Given the description of an element on the screen output the (x, y) to click on. 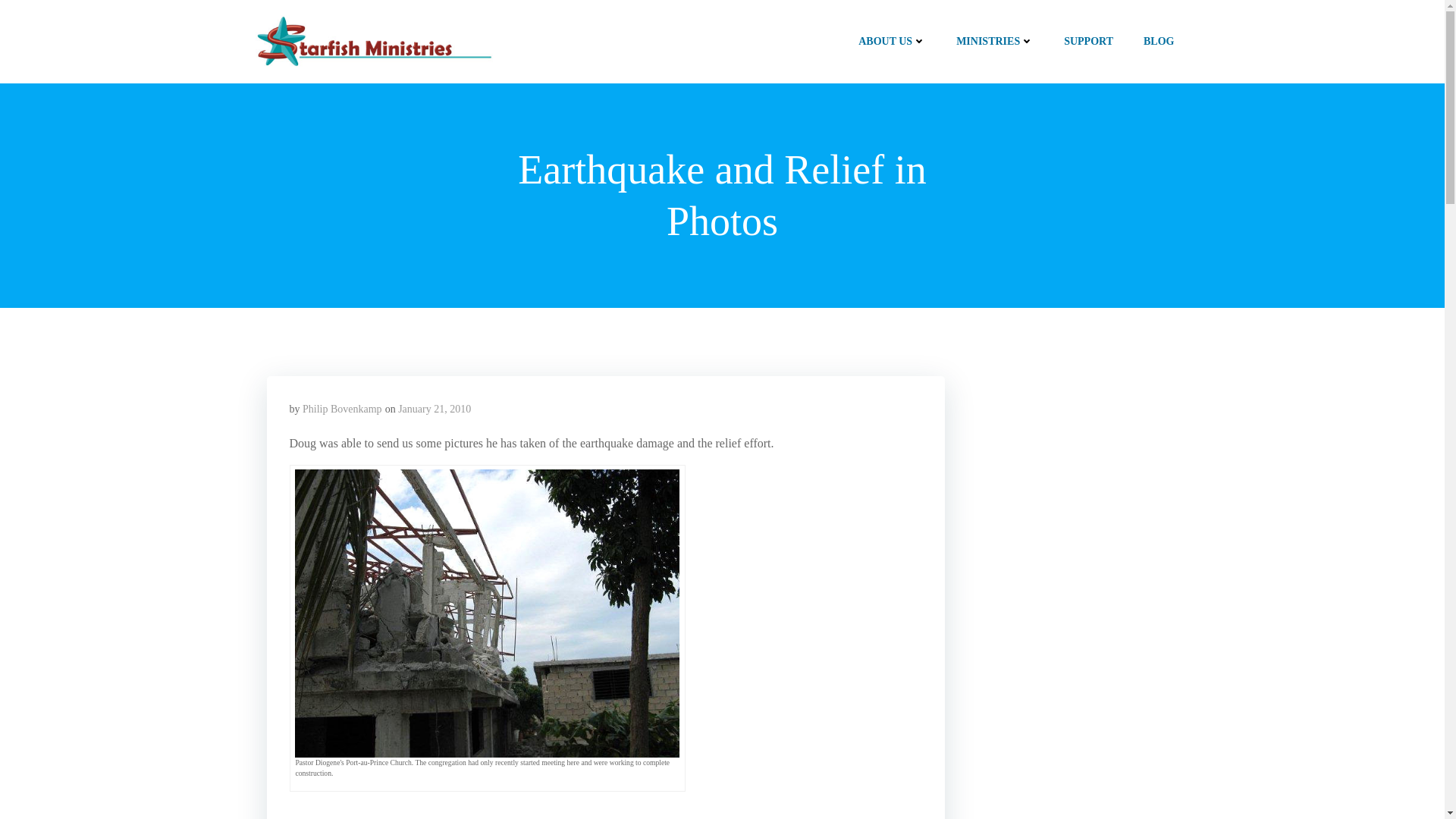
MINISTRIES (994, 41)
Colibri (881, 773)
January 21, 2010 (433, 408)
BLOG (1157, 41)
ABOUT US (892, 41)
church (486, 613)
Philip Bovenkamp (341, 408)
SUPPORT (1088, 41)
